Given the description of an element on the screen output the (x, y) to click on. 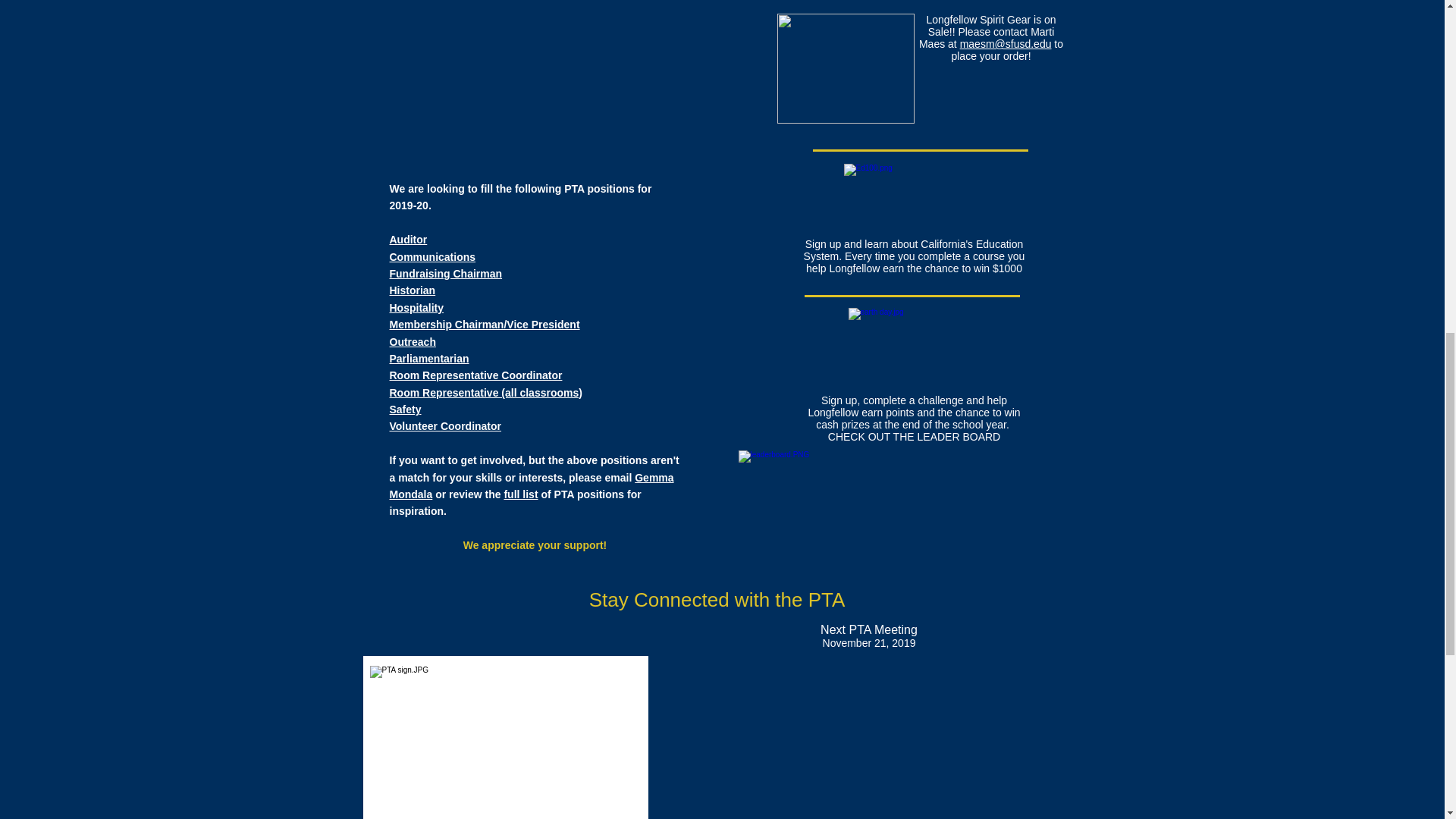
Gemma Mondala (532, 485)
Communications (433, 256)
full list (520, 494)
Parliamentarian (429, 358)
Outreach (412, 341)
Volunteer Coordinator (446, 426)
Room Representative Coordinator (476, 375)
Safety (406, 409)
Hospitality (417, 307)
Historian (412, 290)
Auditor (409, 239)
Fundraising Chairman (446, 273)
